Given the description of an element on the screen output the (x, y) to click on. 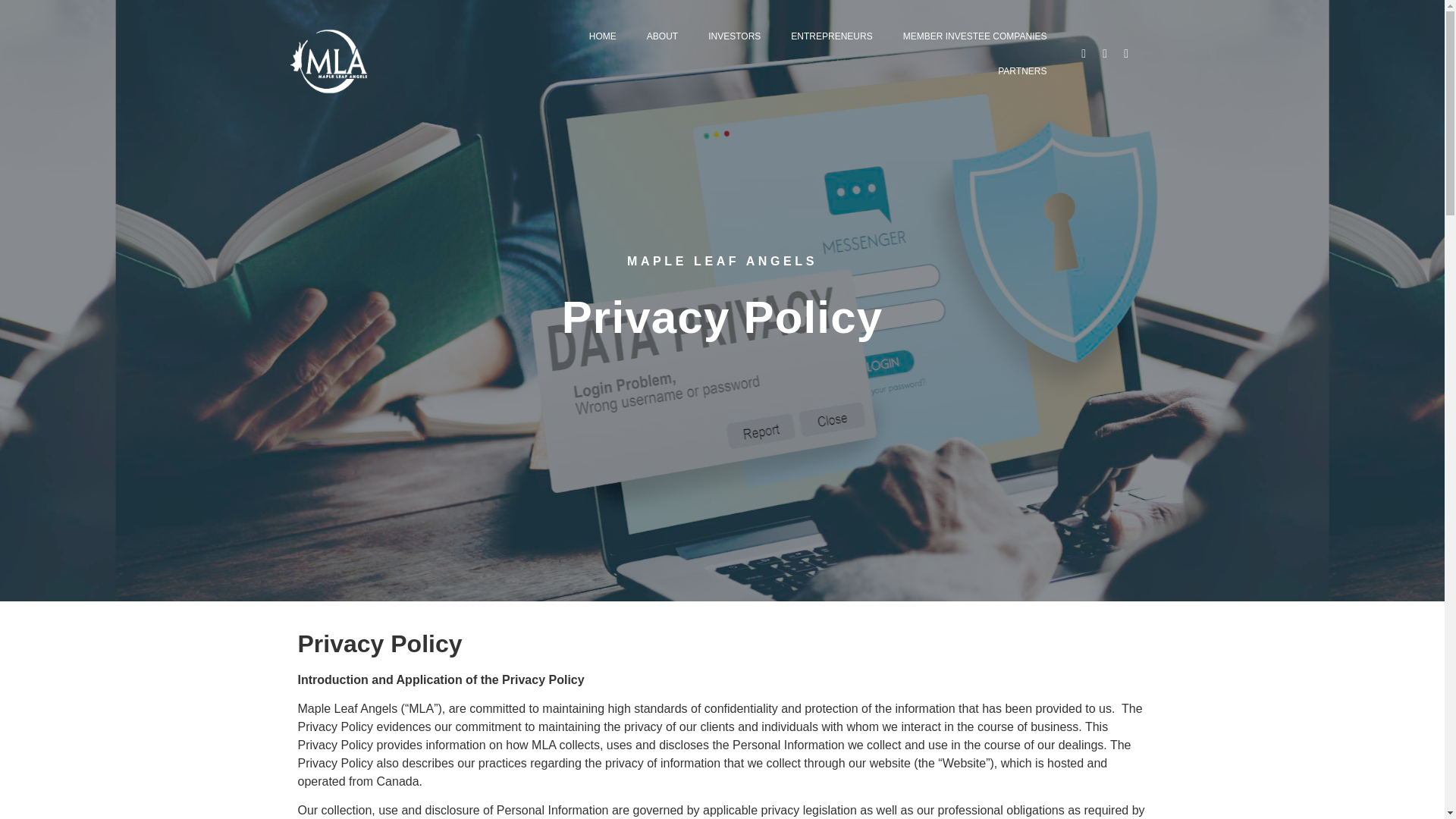
PARTNERS (1021, 19)
